Given the description of an element on the screen output the (x, y) to click on. 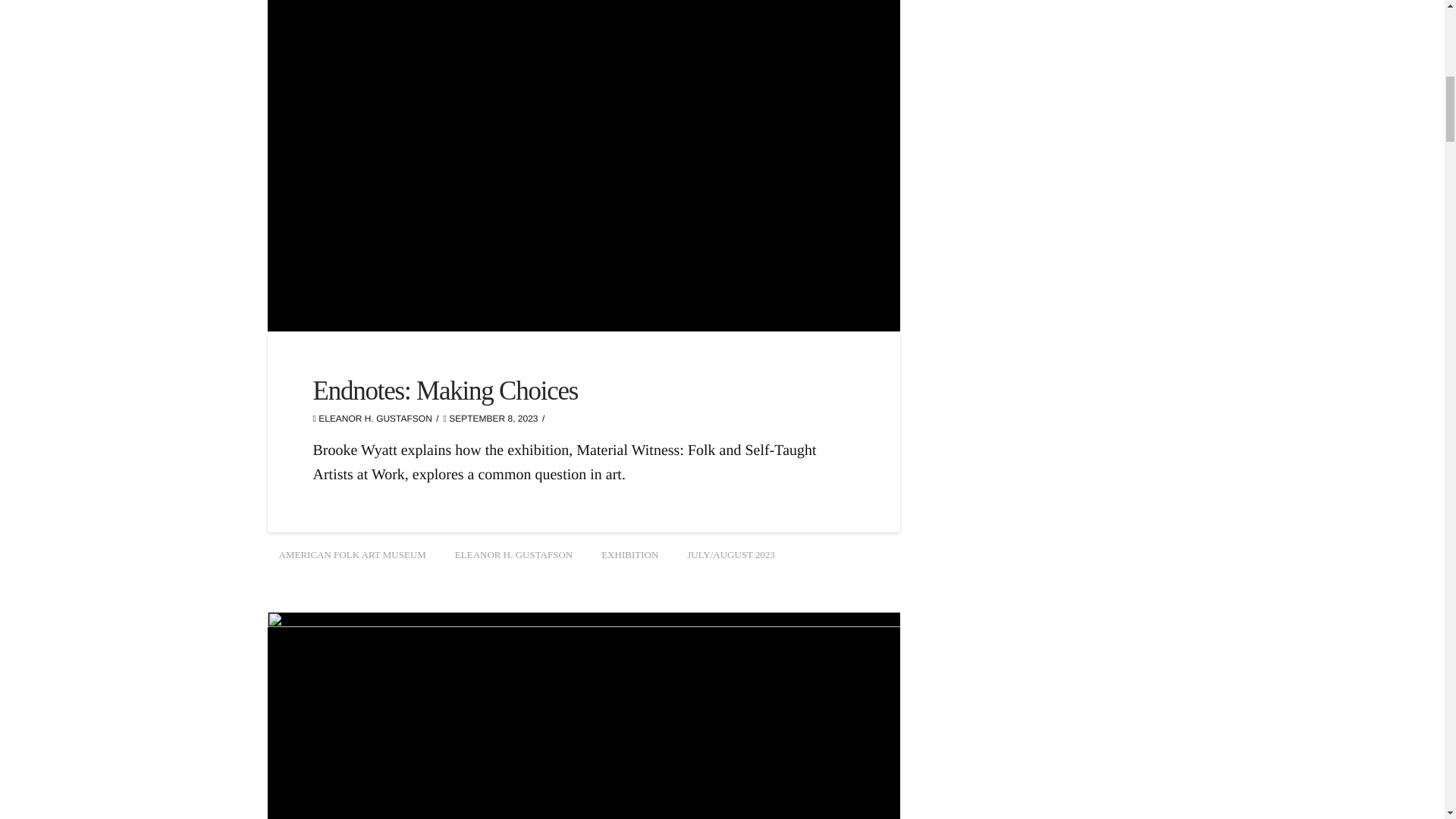
Permalink to: "Museum visit: Second Sight" (582, 715)
AMERICAN FOLK ART MUSEUM (351, 555)
ELEANOR H. GUSTAFSON (513, 555)
EXHIBITION (629, 555)
Endnotes: Making Choices (445, 390)
Permalink to: "Endnotes: Making Choices" (445, 390)
